Given the description of an element on the screen output the (x, y) to click on. 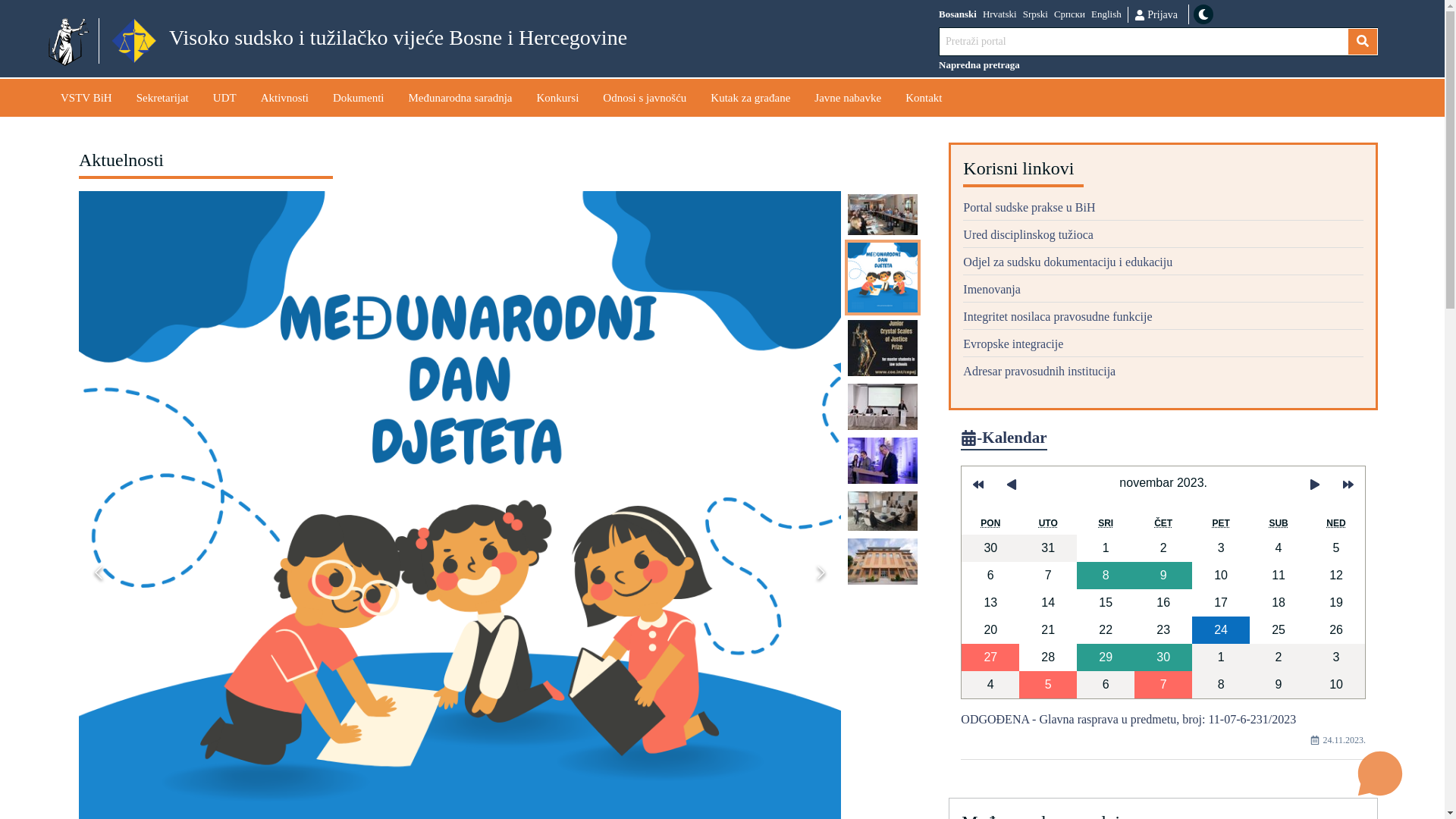
10 Element type: text (1336, 684)
27 Element type: text (990, 657)
19 Element type: text (1336, 602)
17 Element type: text (1220, 602)
30 Element type: text (990, 547)
Napredna pretraga Element type: text (1157, 65)
Kontakt Element type: text (923, 97)
25 Element type: text (1278, 629)
Dokumenti Element type: text (358, 97)
2 Element type: text (1163, 547)
24 Element type: text (1220, 629)
Aktivnosti Element type: text (284, 97)
5 Element type: text (1336, 547)
12 Element type: text (1336, 575)
novembar 2023. Element type: text (1163, 482)
Evropske integracije Element type: text (1163, 346)
1 Element type: text (1220, 657)
28 Element type: text (1047, 657)
9 Element type: text (1163, 575)
22 Element type: text (1105, 629)
16 Element type: text (1163, 602)
8 Element type: text (1220, 684)
18 Element type: text (1278, 602)
29 Element type: text (1105, 657)
6 Element type: text (1105, 684)
Konkursi Element type: text (557, 97)
Imenovanja Element type: text (1163, 291)
30 Element type: text (1163, 657)
31 Element type: text (1047, 547)
4 Element type: text (990, 684)
10 Element type: text (1220, 575)
VSTV BiH Element type: text (86, 97)
Sekretarijat Element type: text (162, 97)
Aktuelnosti Element type: text (501, 162)
UDT Element type: text (224, 97)
9 Element type: text (1278, 684)
20 Element type: text (990, 629)
7 Element type: text (1047, 575)
11 Element type: text (1278, 575)
Javne nabavke Element type: text (847, 97)
1 Element type: text (1105, 547)
23 Element type: text (1163, 629)
Portal sudske prakse u BiH Element type: text (1163, 209)
Integritet nosilaca pravosudne funkcije Element type: text (1163, 318)
Adresar pravosudnih institucija Element type: text (1163, 371)
21 Element type: text (1047, 629)
7 Element type: text (1163, 684)
5 Element type: text (1047, 684)
Odjel za sudsku dokumentaciju i edukaciju Element type: text (1163, 264)
Prijava Element type: text (1155, 13)
13 Element type: text (990, 602)
15 Element type: text (1105, 602)
8 Element type: text (1105, 575)
4 Element type: text (1278, 547)
26 Element type: text (1336, 629)
3 Element type: text (1336, 657)
3 Element type: text (1220, 547)
2 Element type: text (1278, 657)
14 Element type: text (1047, 602)
6 Element type: text (990, 575)
